Given the description of an element on the screen output the (x, y) to click on. 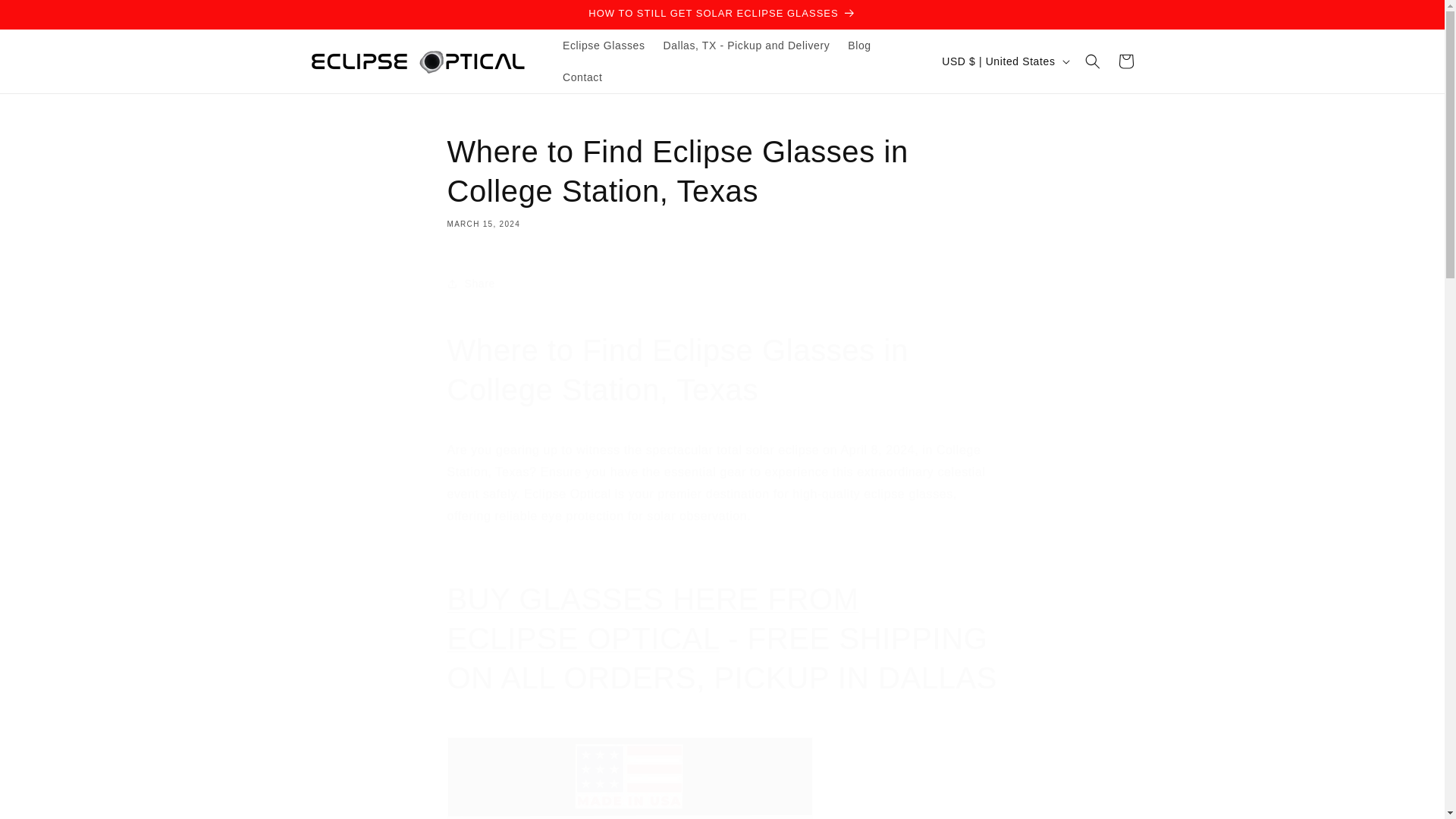
Blog (858, 45)
Dallas, TX - Pickup and Delivery (746, 45)
Share (721, 283)
Skip to content (45, 17)
Contact (582, 77)
Cart (1124, 61)
Eclipse Glasses (603, 45)
BUY GLASSES HERE FROM ECLIPSE OPTICAL (652, 618)
HOW TO STILL GET SOLAR ECLIPSE GLASSES (721, 14)
